Given the description of an element on the screen output the (x, y) to click on. 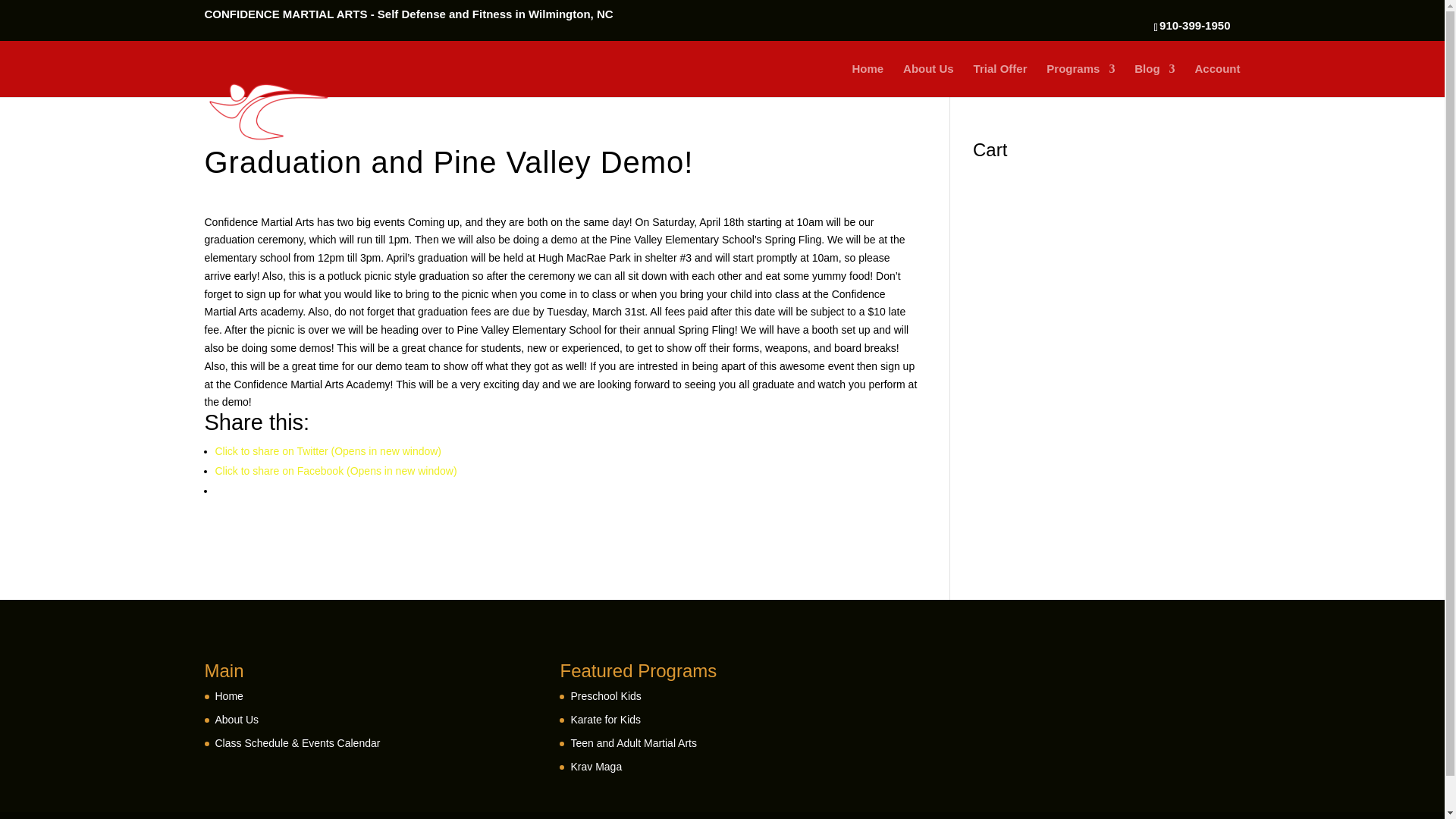
Krav Maga (595, 766)
Home (229, 695)
Click to share on Twitter (328, 451)
Click to share on Facebook (336, 470)
Home (867, 80)
Programs (1080, 80)
Teen and Adult Martial Arts (633, 743)
Trial Offer (1000, 80)
Preschool Kids (605, 695)
Account (1217, 80)
Karate for Kids (605, 719)
Blog (1154, 80)
About Us (237, 719)
About Us (927, 80)
